Given the description of an element on the screen output the (x, y) to click on. 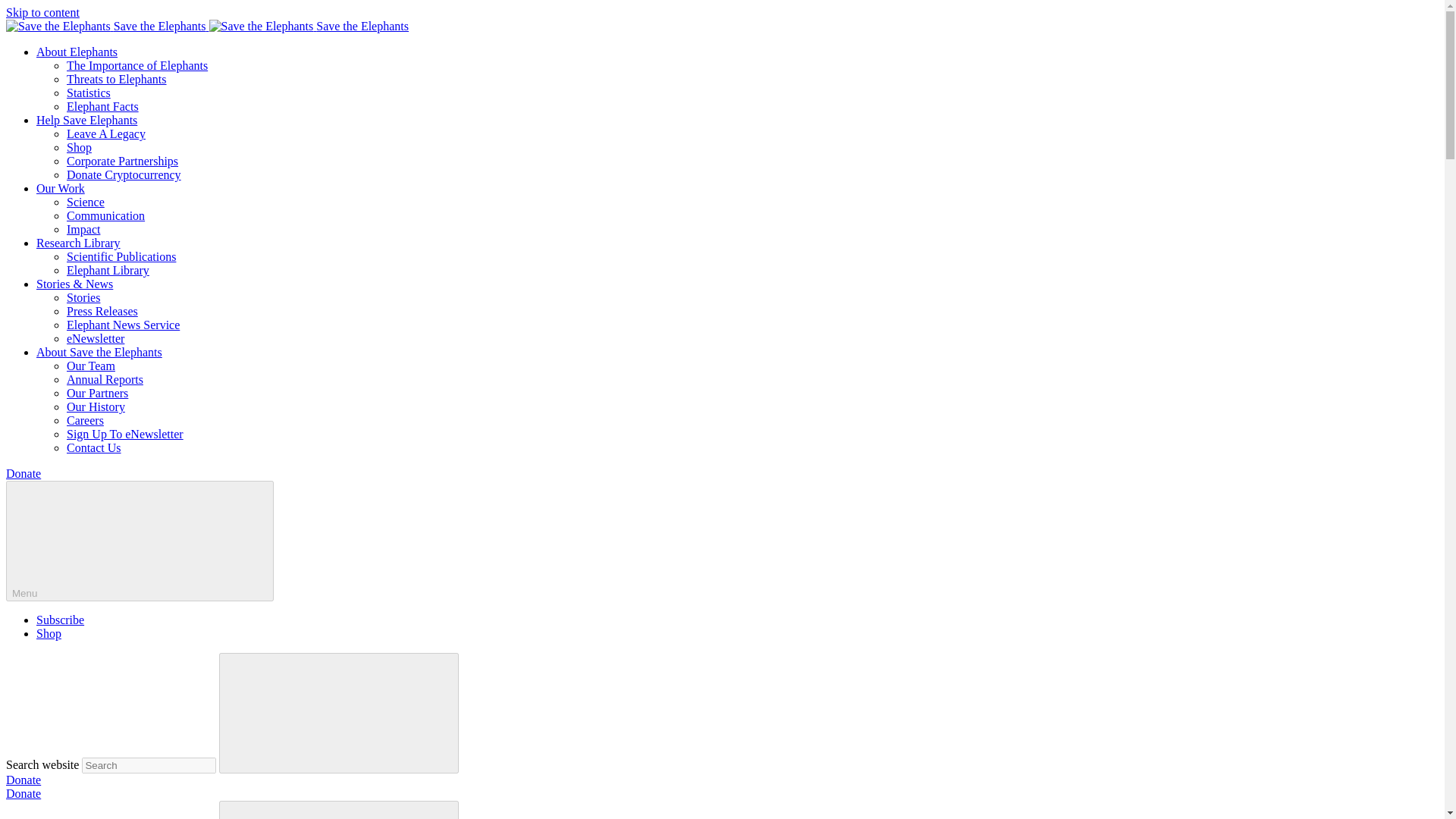
Shop (78, 146)
Communication (105, 215)
Annual Reports (104, 379)
Statistics (88, 92)
Corporate Partnerships (121, 160)
Save the Elephants (107, 25)
Our Team (90, 365)
Our Partners (97, 392)
Press Releases (102, 310)
Help Save Elephants (86, 119)
